Given the description of an element on the screen output the (x, y) to click on. 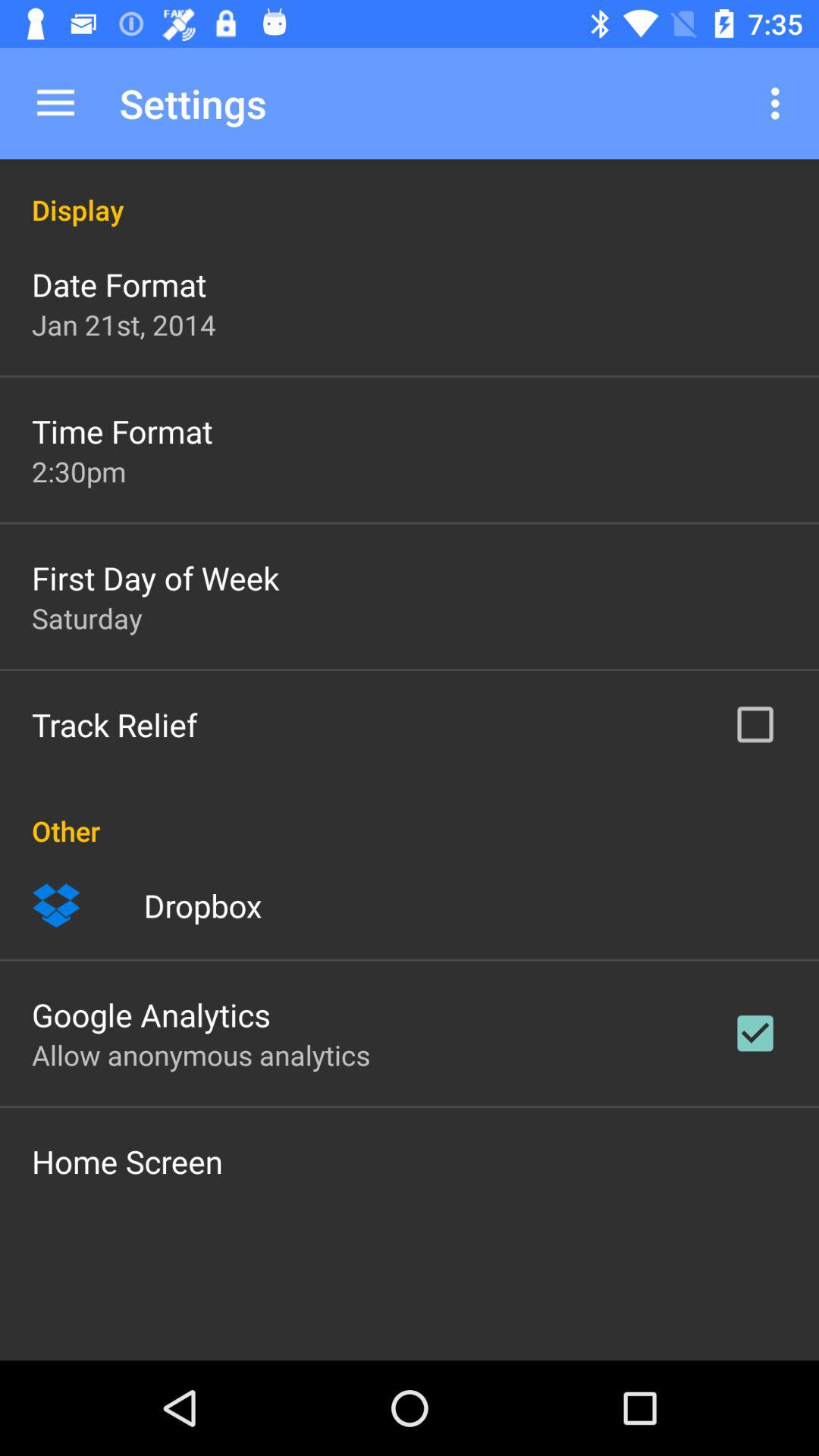
click the item below the other icon (56, 905)
